Given the description of an element on the screen output the (x, y) to click on. 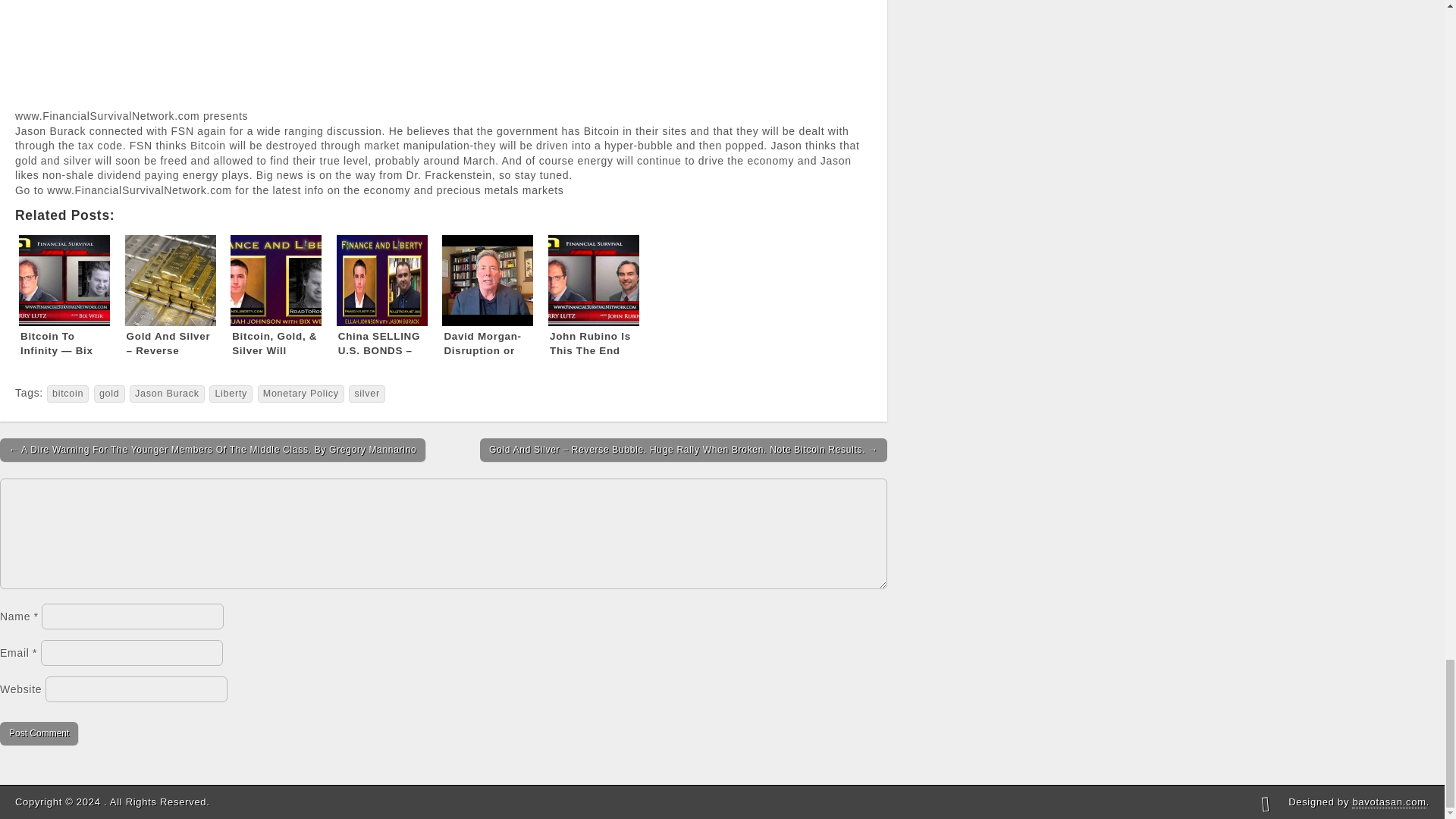
Post Comment (39, 732)
